Given the description of an element on the screen output the (x, y) to click on. 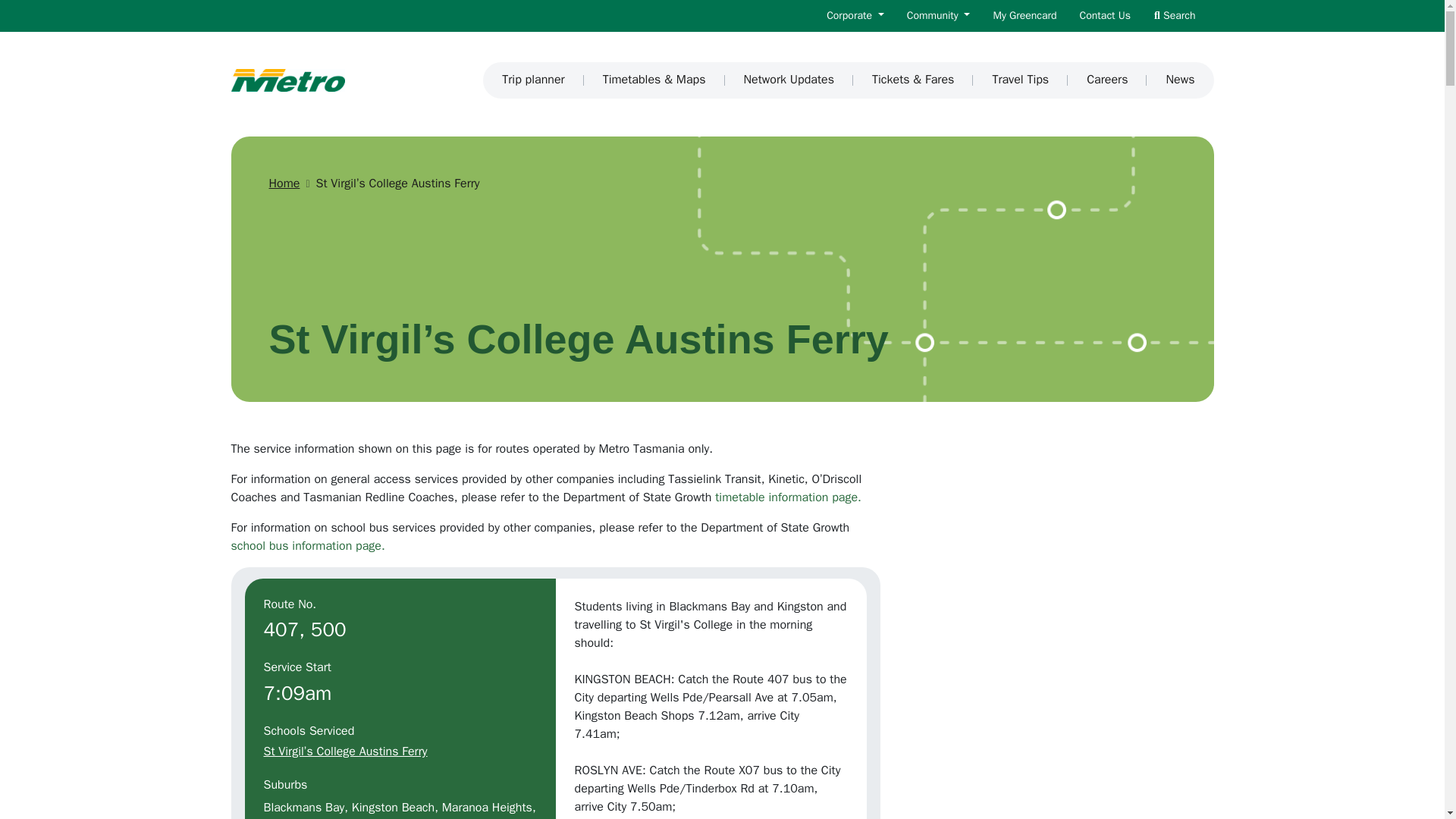
Contact Us (1104, 15)
My Greencard (1024, 15)
Trip planner (532, 80)
News (1179, 80)
Network Updates (788, 80)
Careers (1106, 80)
Travel Tips (1020, 80)
Corporate (855, 15)
Community (938, 15)
